Given the description of an element on the screen output the (x, y) to click on. 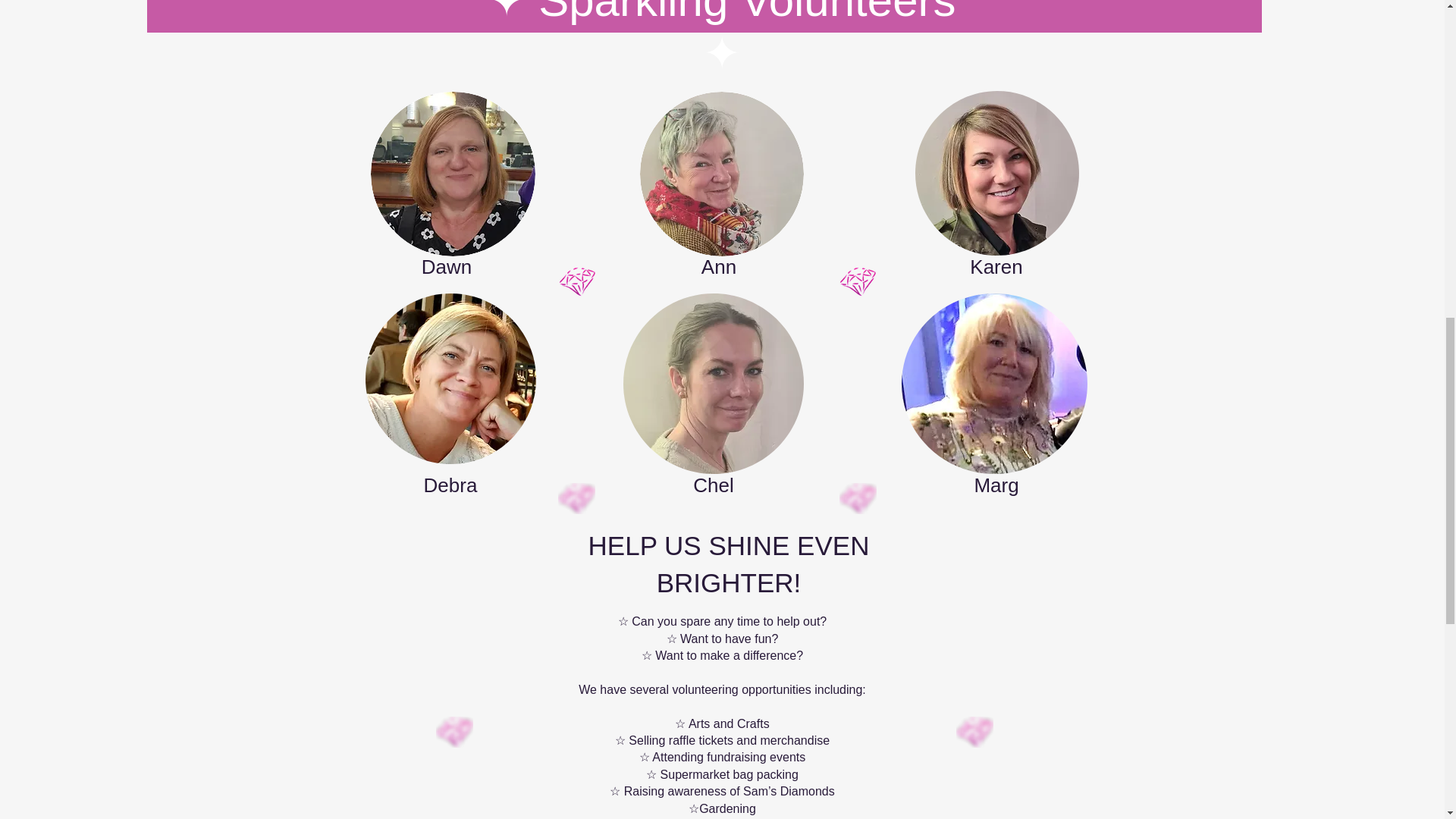
Diamond.png (857, 498)
Diamond.png (857, 281)
Diamond.png (576, 498)
guy4.jpg (451, 173)
Diamond.png (973, 731)
Diamond.png (453, 731)
Diamond.png (576, 281)
